Given the description of an element on the screen output the (x, y) to click on. 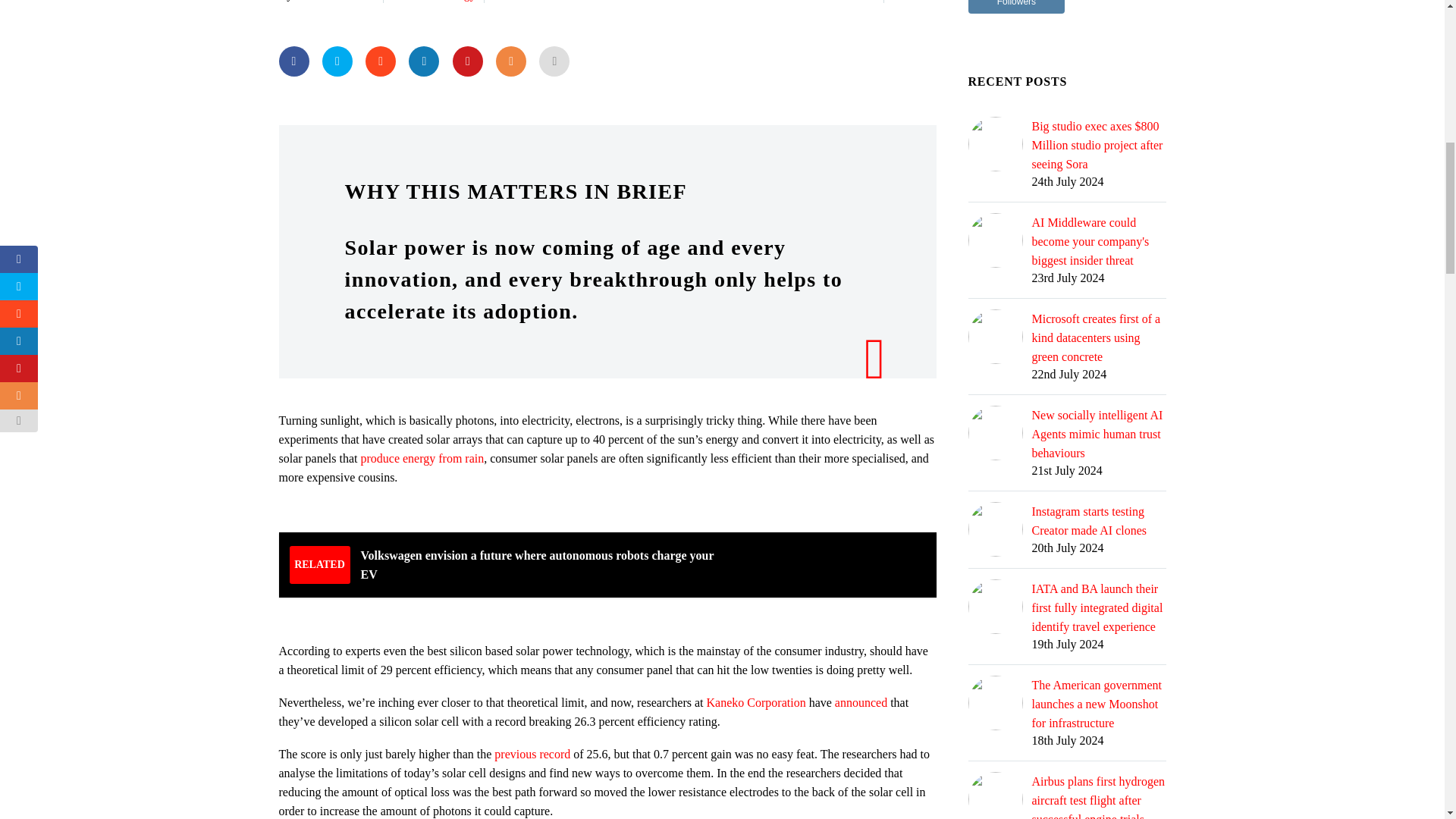
announced (860, 702)
Kaneko Corporation (756, 702)
0 (899, 2)
Like this (899, 2)
previous record (532, 753)
produce energy from rain (421, 458)
